Given the description of an element on the screen output the (x, y) to click on. 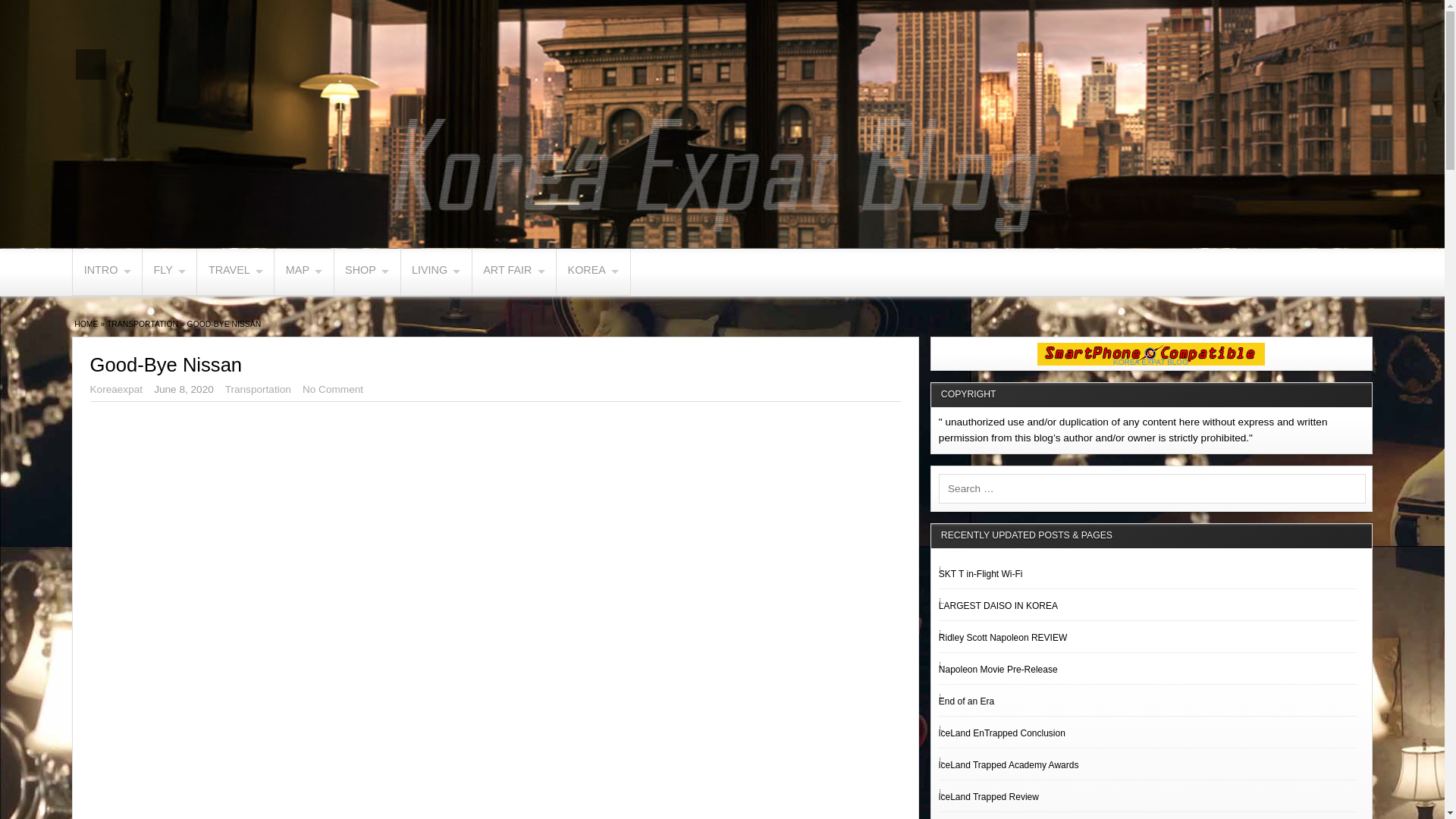
Posts by koreaexpat (116, 389)
Korea Expat BLog (85, 324)
SHOP (367, 271)
View all posts in transportation (141, 324)
TRAVEL (234, 271)
View all posts in transportation (258, 389)
FLY (169, 271)
MAP (304, 271)
INTRO (106, 271)
